Given the description of an element on the screen output the (x, y) to click on. 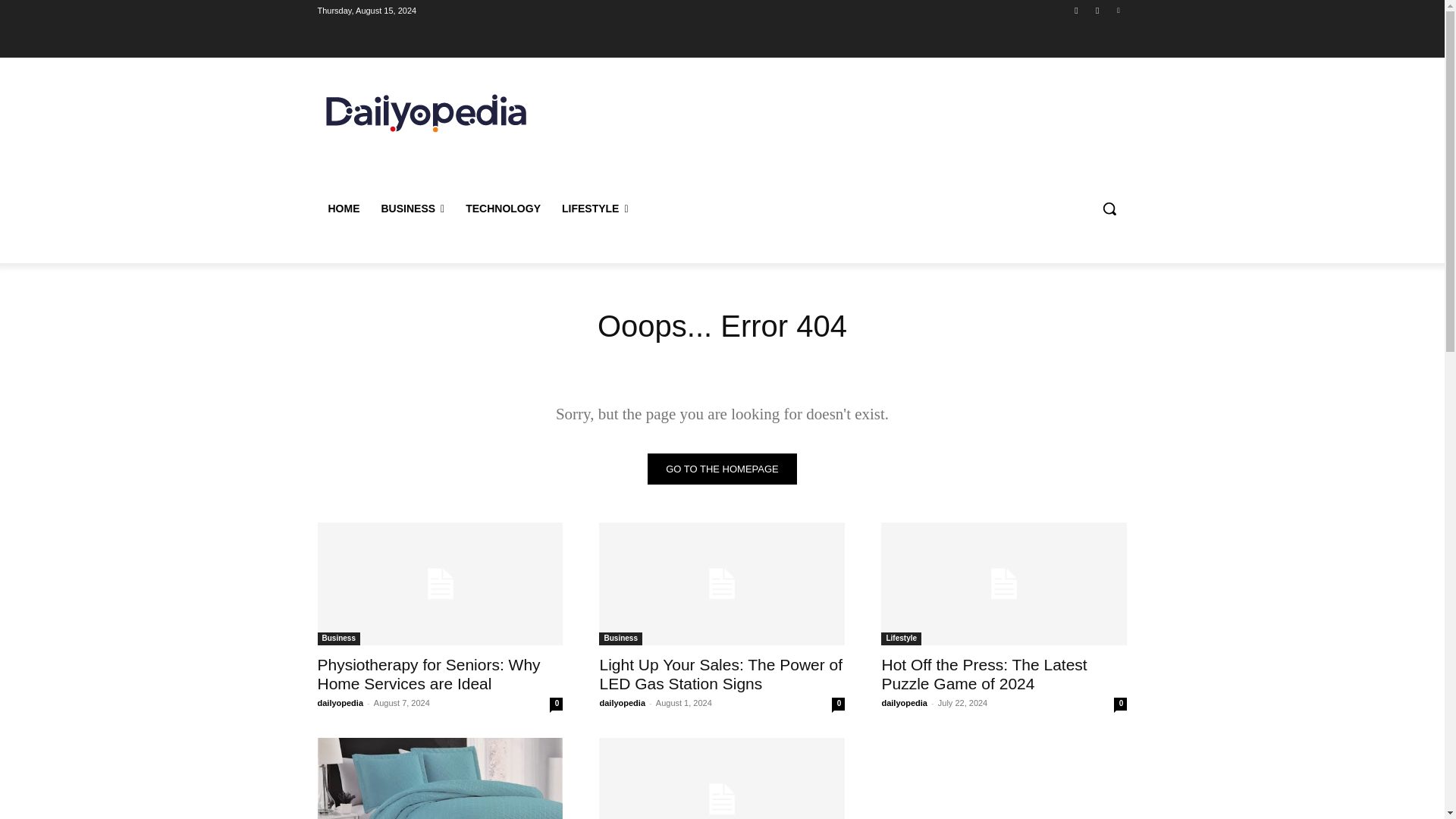
TECHNOLOGY (502, 208)
dailyopedia (621, 702)
LIFESTYLE (595, 208)
Linkedin (1117, 9)
dailyopedia (339, 702)
Lifestyle (900, 638)
Facebook (1075, 9)
Instagram (1097, 9)
Hot Off the Press: The Latest Puzzle Game of 2024 (983, 674)
0 (556, 703)
